Given the description of an element on the screen output the (x, y) to click on. 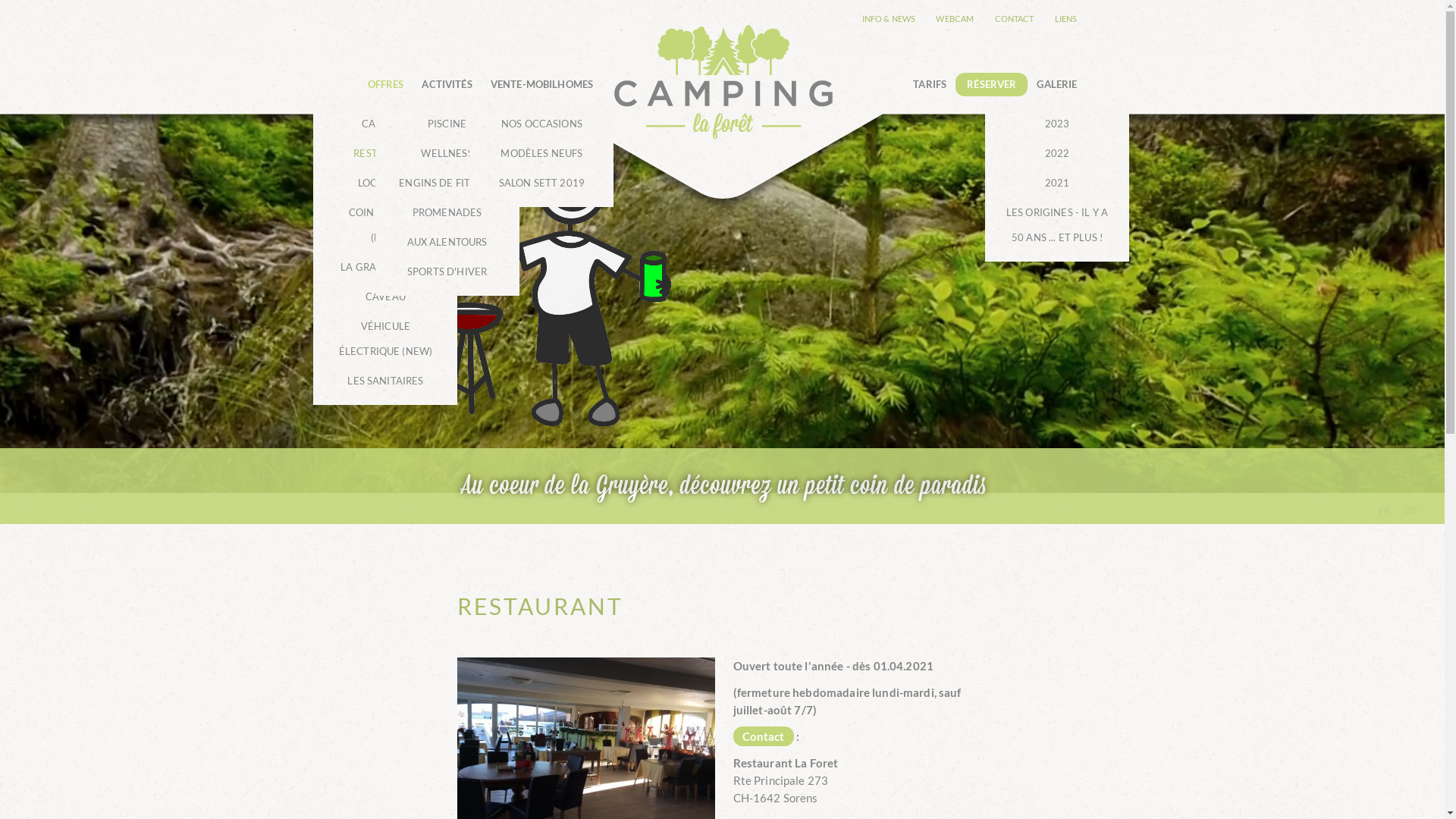
2022 Element type: text (1057, 153)
LA GRANGE (NEW) Element type: text (385, 267)
WELLNESS Element type: text (447, 153)
ENGINS DE FITNESS Element type: text (447, 182)
DE Element type: text (1411, 510)
NOS OCCASIONS Element type: text (541, 117)
PROMENADES Element type: text (447, 212)
TARIFS Element type: text (929, 84)
OFFRES Element type: text (384, 84)
FR Element type: text (1384, 510)
LES SANITAIRES Element type: text (385, 385)
2023 Element type: text (1057, 117)
camping-la-foret.ch Element type: text (722, 81)
CAMPING Element type: text (385, 117)
RESTAURANT Element type: text (385, 153)
INFO & NEWS Element type: text (889, 18)
AUX ALENTOURS Element type: text (447, 242)
GALERIE Element type: text (1056, 84)
2021 Element type: text (1057, 182)
WEBCAM Element type: text (954, 18)
PISCINE Element type: text (447, 117)
LES ORIGINES - IL Y A 50 ANS ... ET PLUS ! Element type: text (1057, 229)
VENTE-MOBILHOMES Element type: text (541, 84)
CONTACT Element type: text (1014, 18)
CAVEAU Element type: text (385, 296)
LIENS Element type: text (1065, 18)
SPORTS D'HIVER Element type: text (447, 276)
SALON SETT 2019 Element type: text (541, 187)
LOCATIONS Element type: text (385, 182)
